Given the description of an element on the screen output the (x, y) to click on. 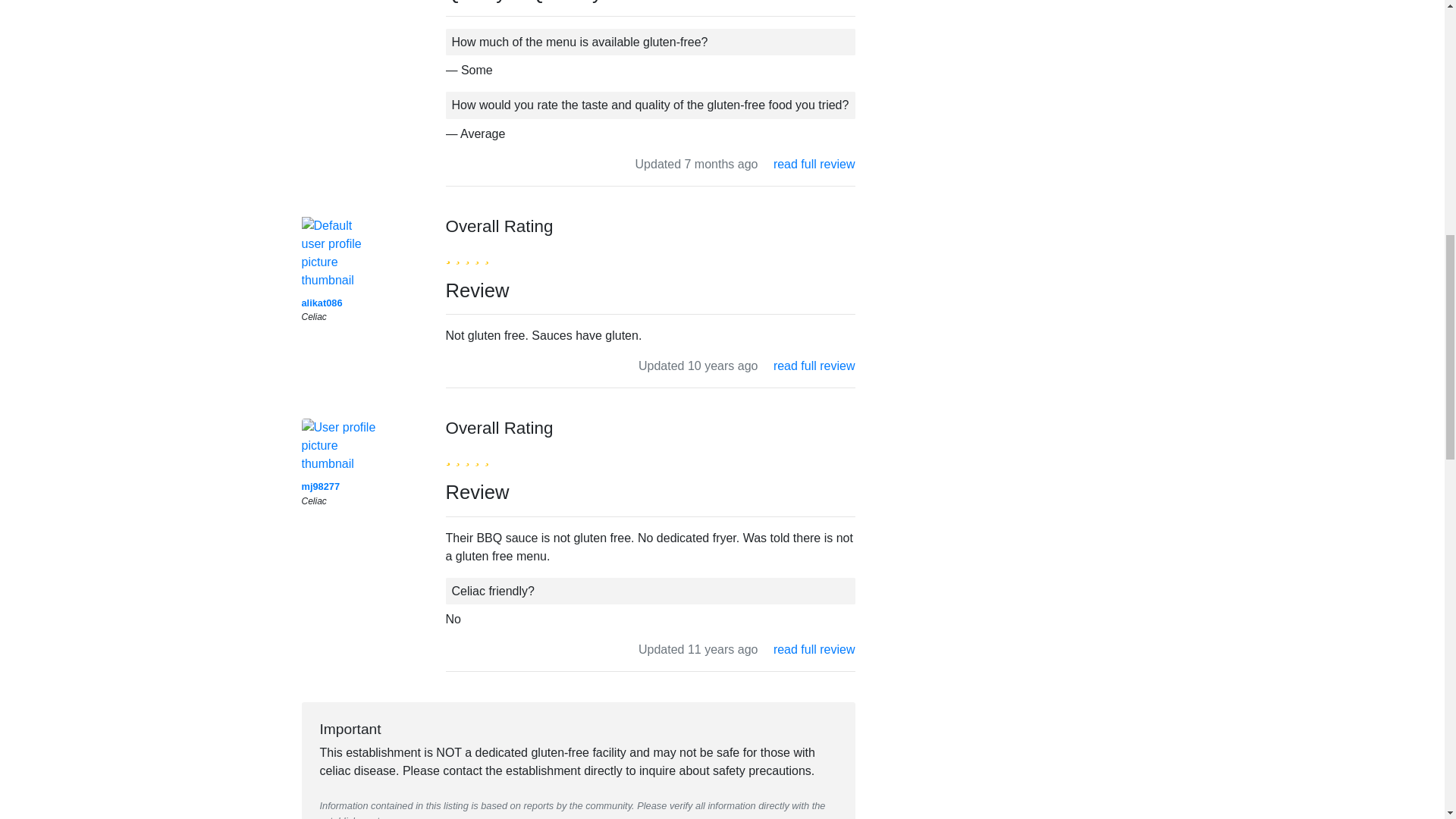
1 star rating (467, 456)
read full review (814, 164)
read full review (814, 365)
mj98277 (320, 486)
alikat086 (321, 302)
read full review (814, 649)
1 star rating (467, 253)
